Given the description of an element on the screen output the (x, y) to click on. 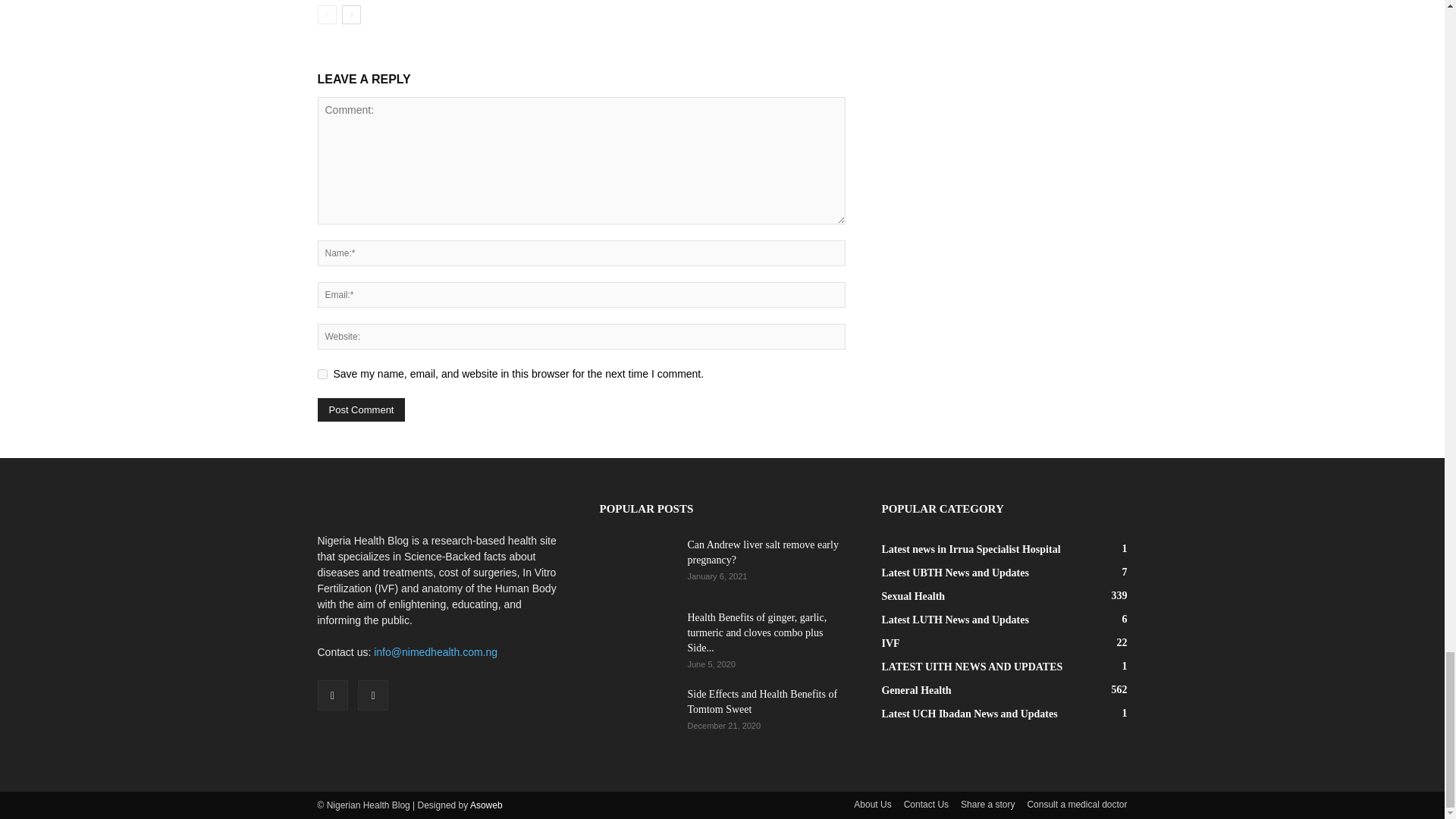
Post Comment (360, 409)
yes (321, 374)
